Given the description of an element on the screen output the (x, y) to click on. 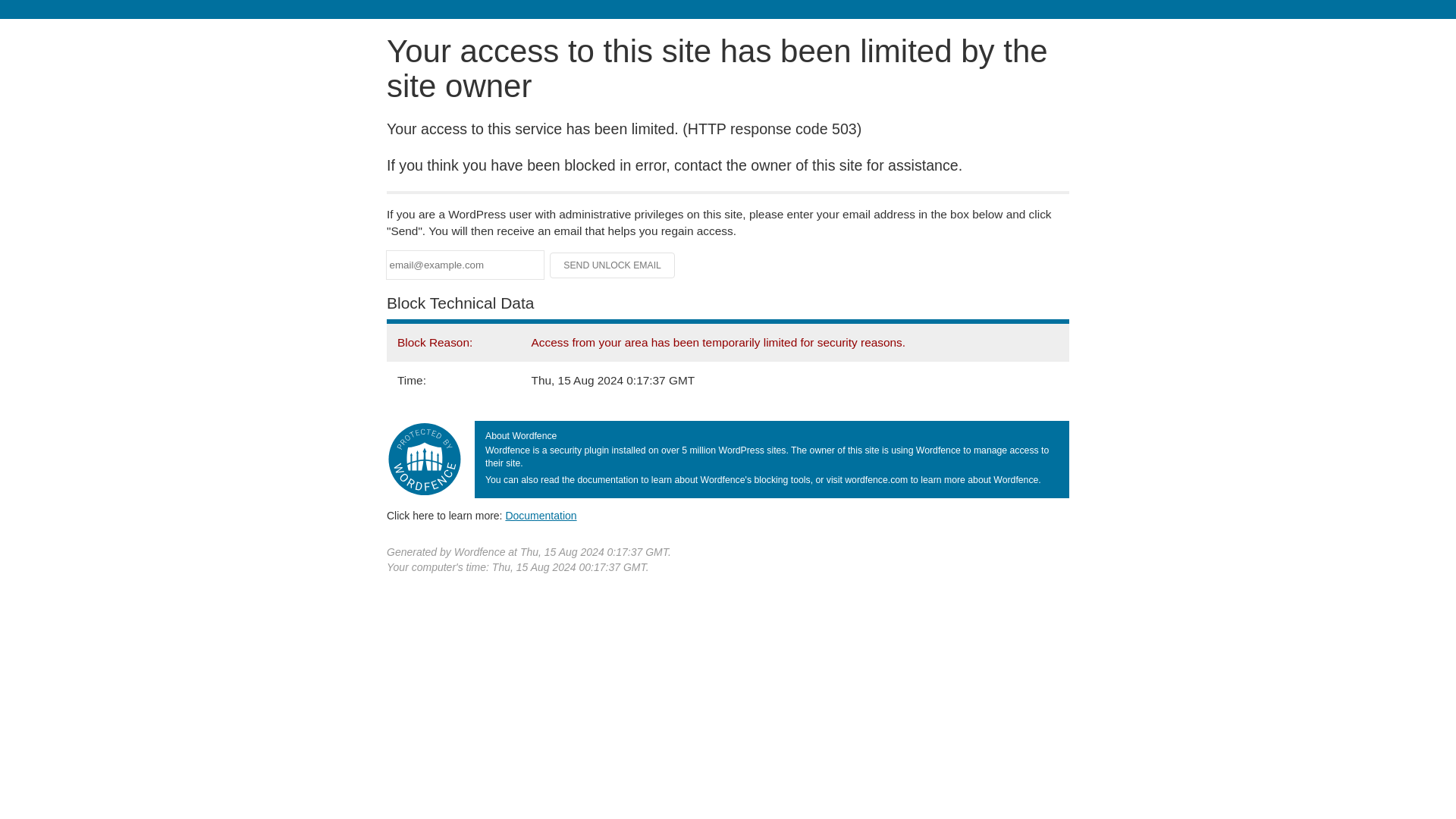
Documentation (540, 515)
Send Unlock Email (612, 265)
Send Unlock Email (612, 265)
